Given the description of an element on the screen output the (x, y) to click on. 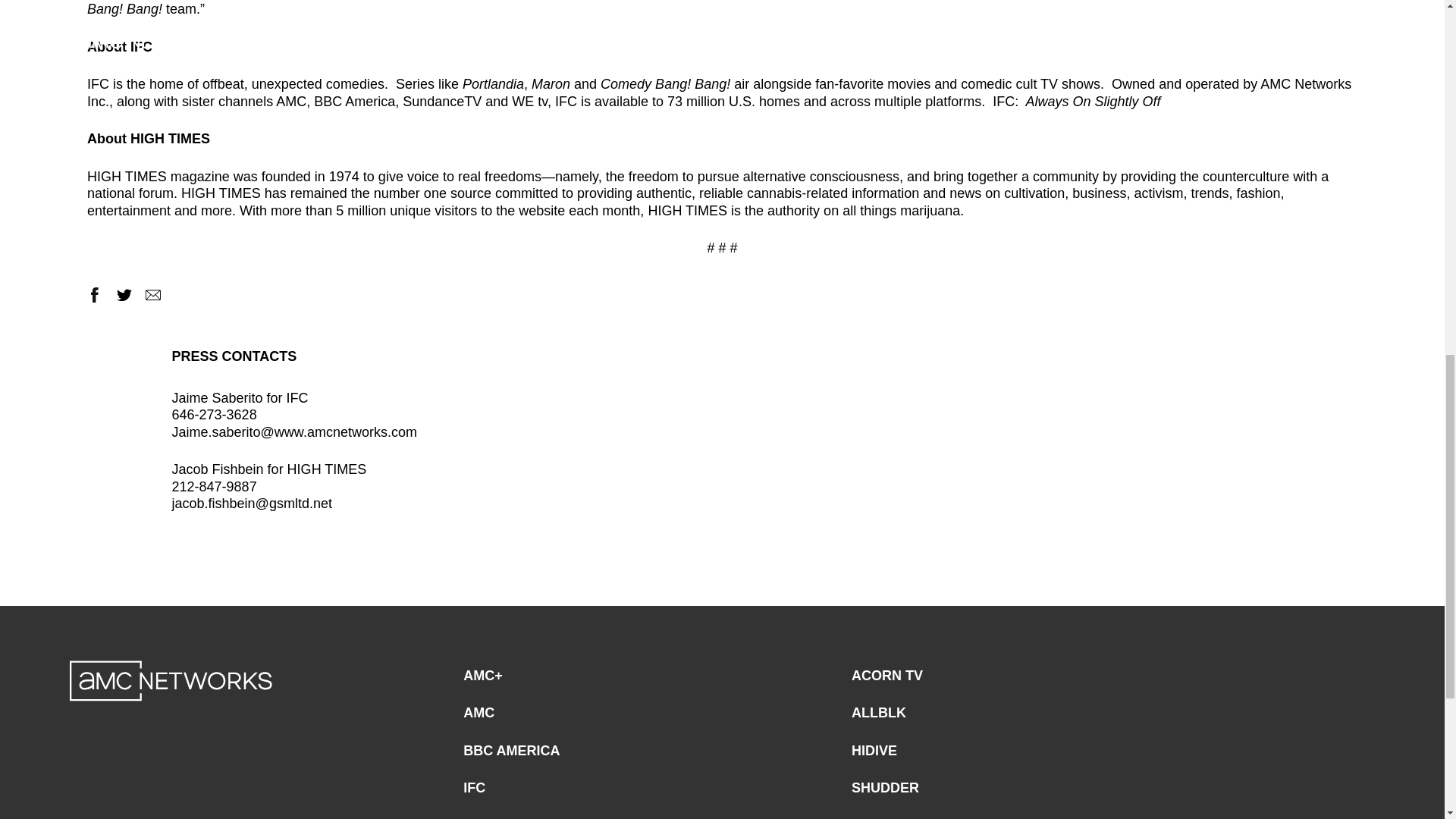
AMC (479, 712)
AMC Networks (170, 680)
IFC (98, 83)
website (541, 210)
